Given the description of an element on the screen output the (x, y) to click on. 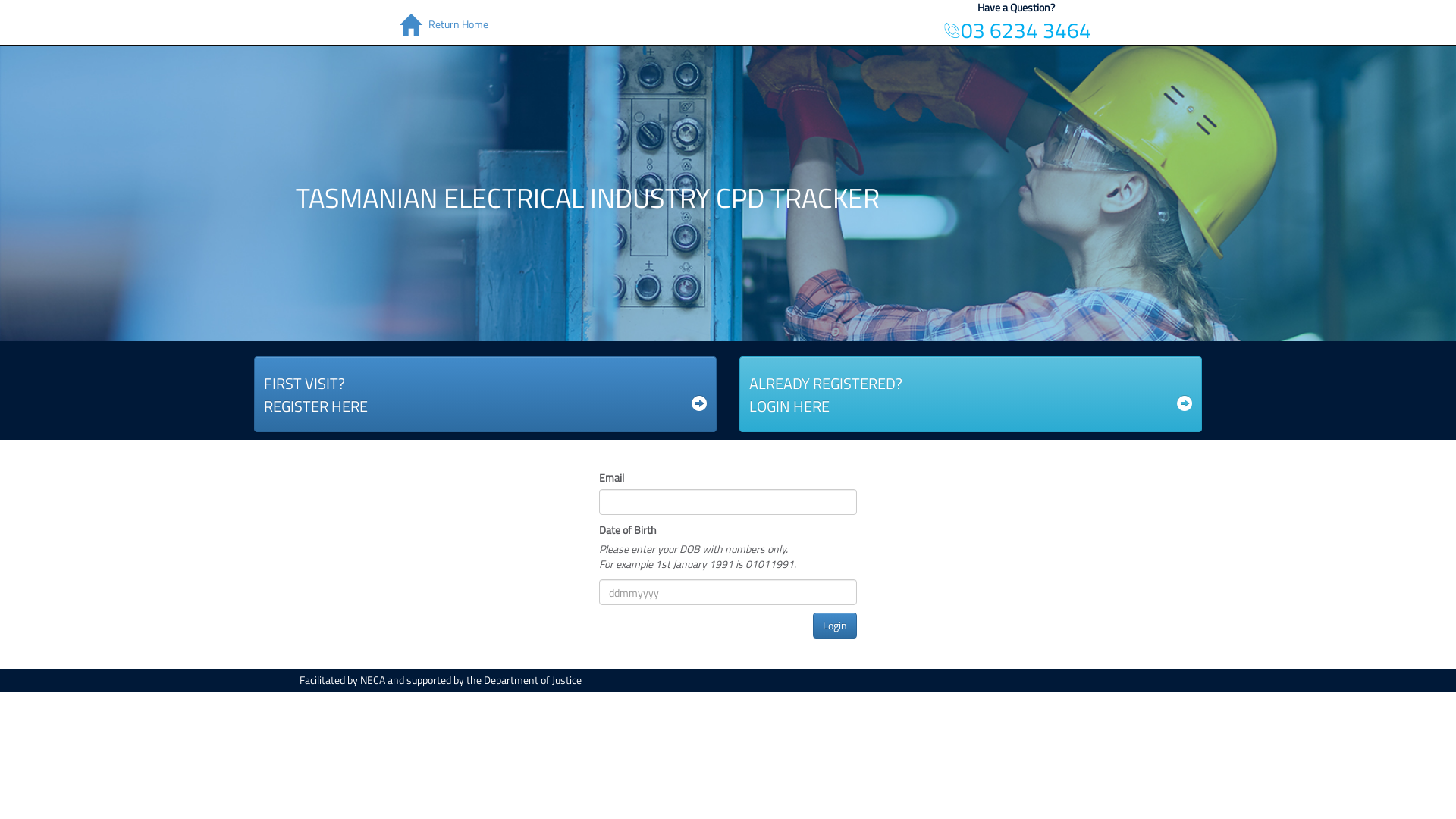
Return Home Element type: text (439, 16)
FIRST VISIT?
REGISTER HERE Element type: text (485, 394)
ALREADY REGISTERED?
LOGIN HERE Element type: text (970, 394)
Login Element type: text (834, 625)
